Given the description of an element on the screen output the (x, y) to click on. 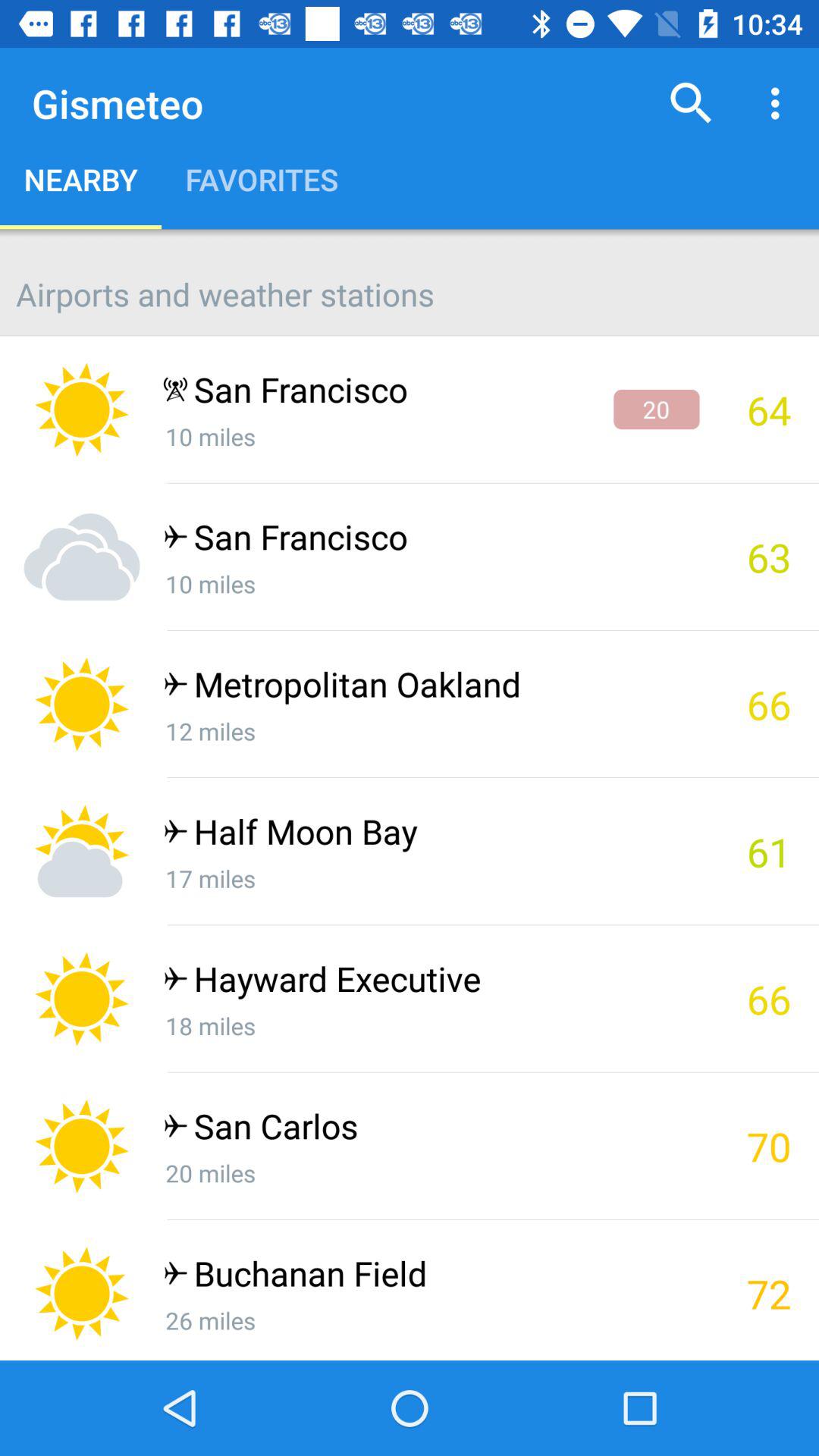
swipe to metropolitan oakland icon (431, 687)
